Given the description of an element on the screen output the (x, y) to click on. 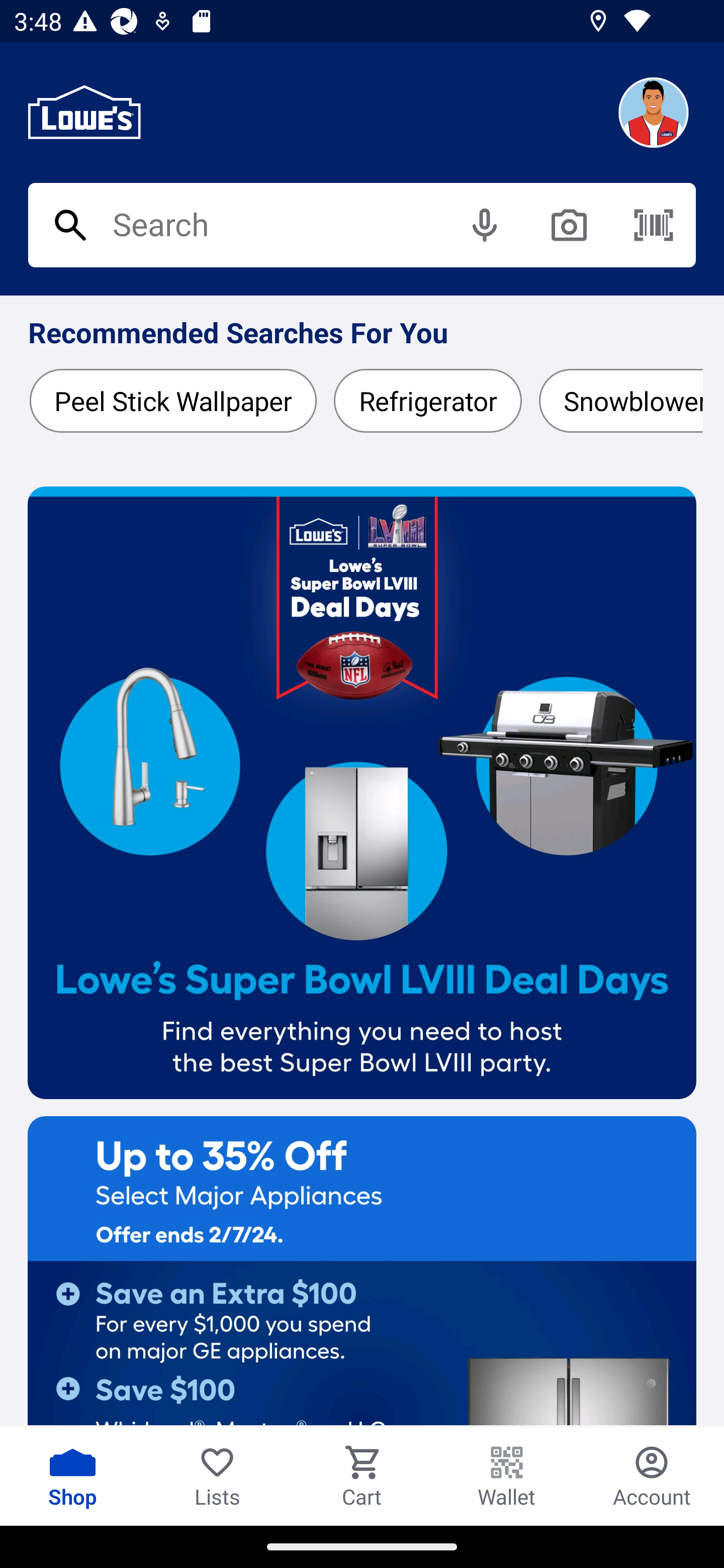
Chat (653, 112)
Search (361, 225)
Peel Stick Wallpaper (172, 400)
Refrigerator (427, 400)
Snowblower (616, 400)
Lists (216, 1475)
Cart (361, 1475)
Wallet (506, 1475)
Account (651, 1475)
